Given the description of an element on the screen output the (x, y) to click on. 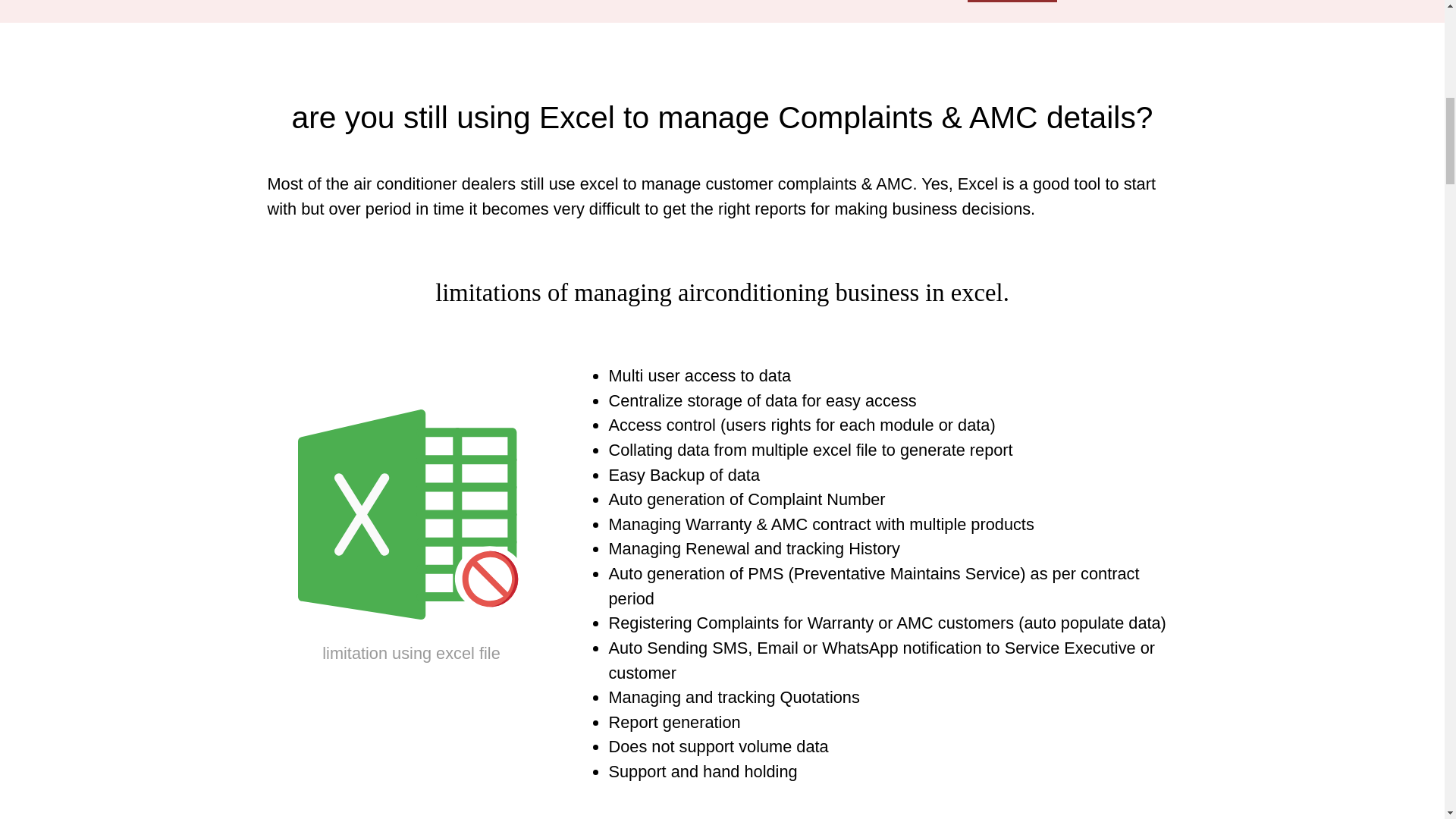
pricing (784, 1)
try now (1012, 1)
compare edition (655, 1)
home (426, 1)
video (869, 1)
features (520, 1)
